Given the description of an element on the screen output the (x, y) to click on. 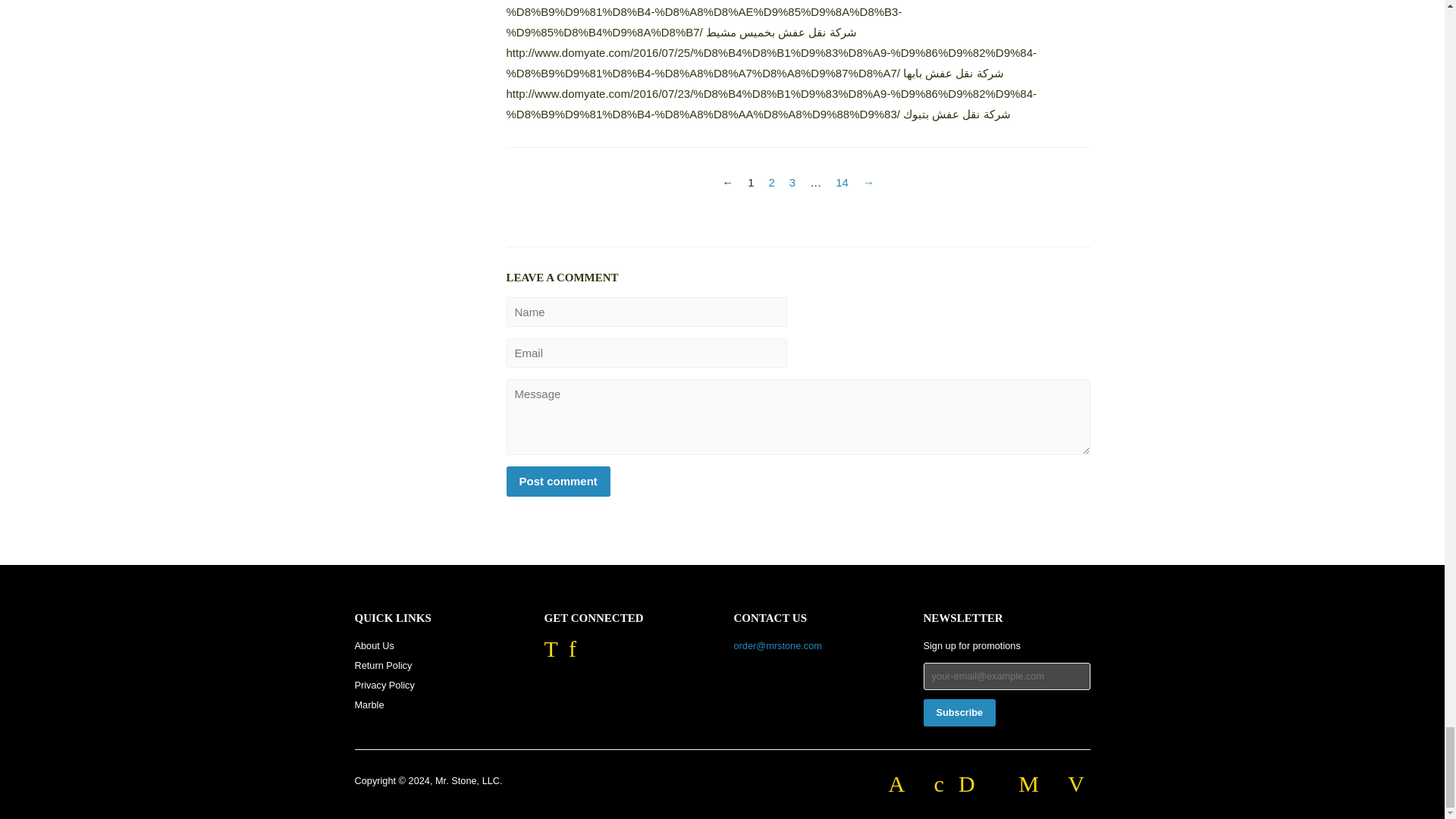
Mr. Stone, LLC on Twitter (550, 653)
Subscribe (959, 712)
Post comment (558, 481)
